Given the description of an element on the screen output the (x, y) to click on. 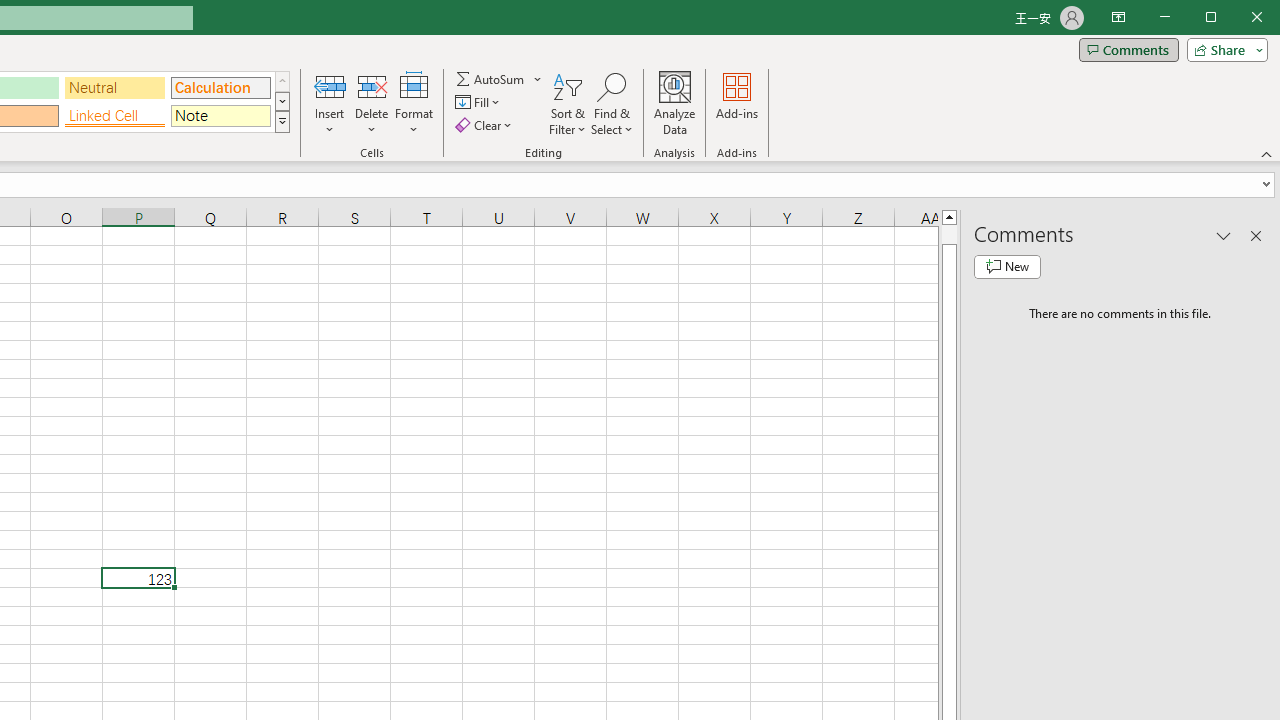
Delete (371, 104)
Sum (491, 78)
AutoSum (498, 78)
Cell Styles (282, 121)
Find & Select (612, 104)
Sort & Filter (567, 104)
Delete Cells... (371, 86)
